Given the description of an element on the screen output the (x, y) to click on. 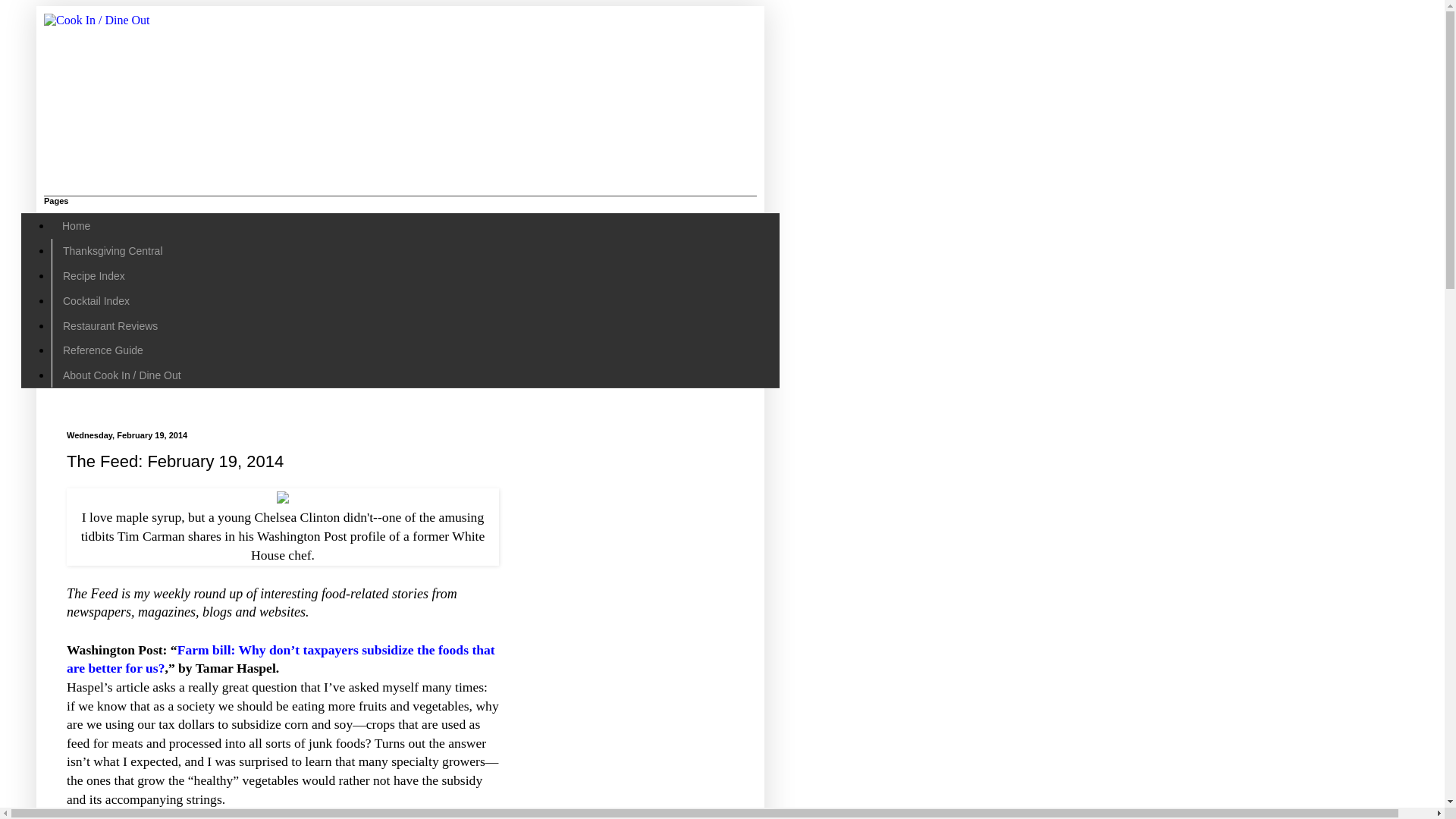
Thanksgiving Central (111, 251)
Recipe Index (92, 276)
Home (75, 226)
Reference Guide (102, 350)
Cocktail Index (94, 300)
Restaurant Reviews (109, 325)
